Given the description of an element on the screen output the (x, y) to click on. 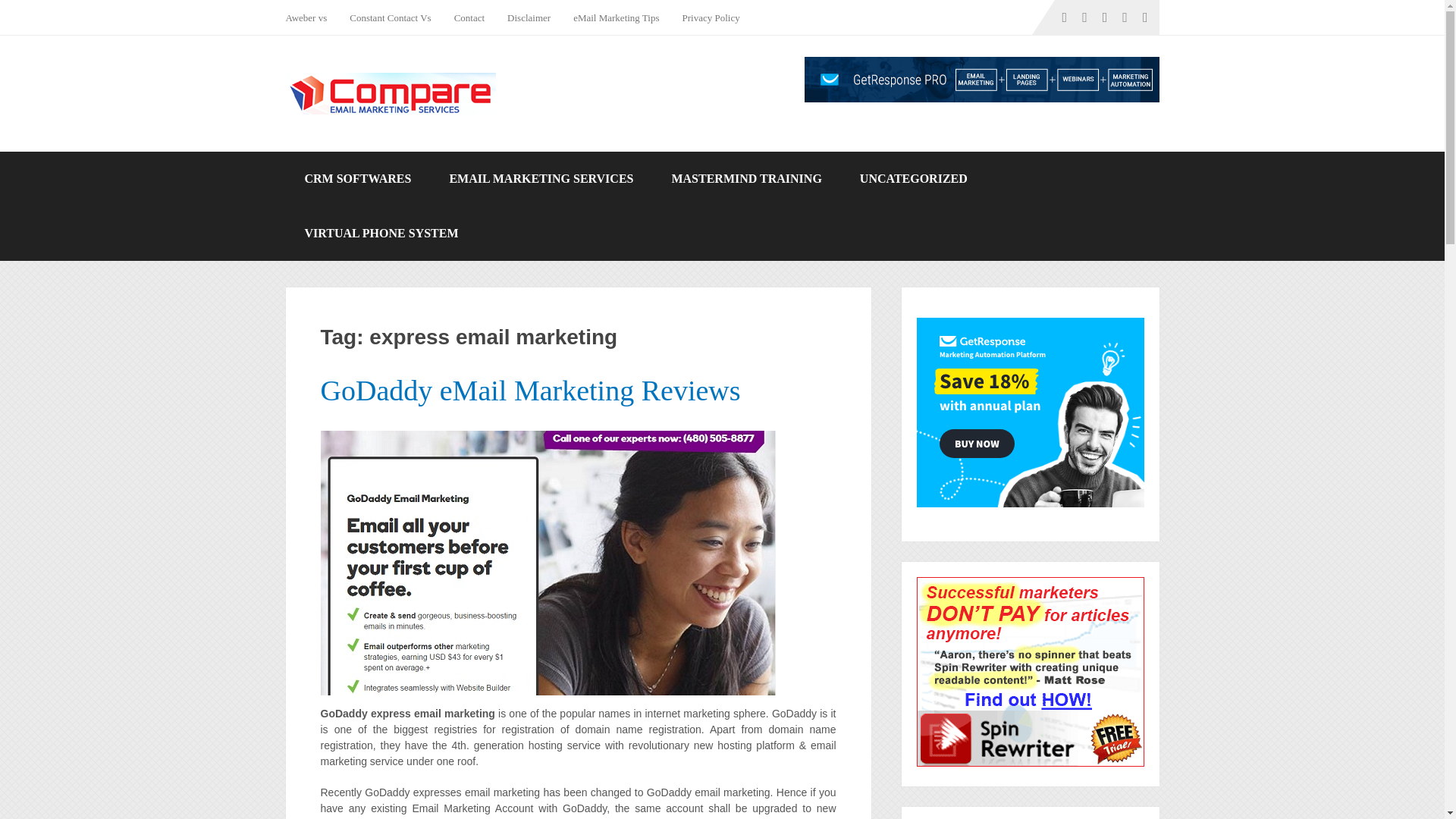
GoDaddy eMail Marketing Reviews (529, 390)
EMAIL MARKETING SERVICES (540, 178)
eMail Marketing Tips (615, 17)
Constant Contact Vs (389, 17)
VIRTUAL PHONE SYSTEM (381, 233)
UNCATEGORIZED (914, 178)
CRM SOFTWARES (357, 178)
Privacy Policy (711, 17)
Aweber vs (311, 17)
MASTERMIND TRAINING (746, 178)
Contact (469, 17)
Disclaimer (529, 17)
